Given the description of an element on the screen output the (x, y) to click on. 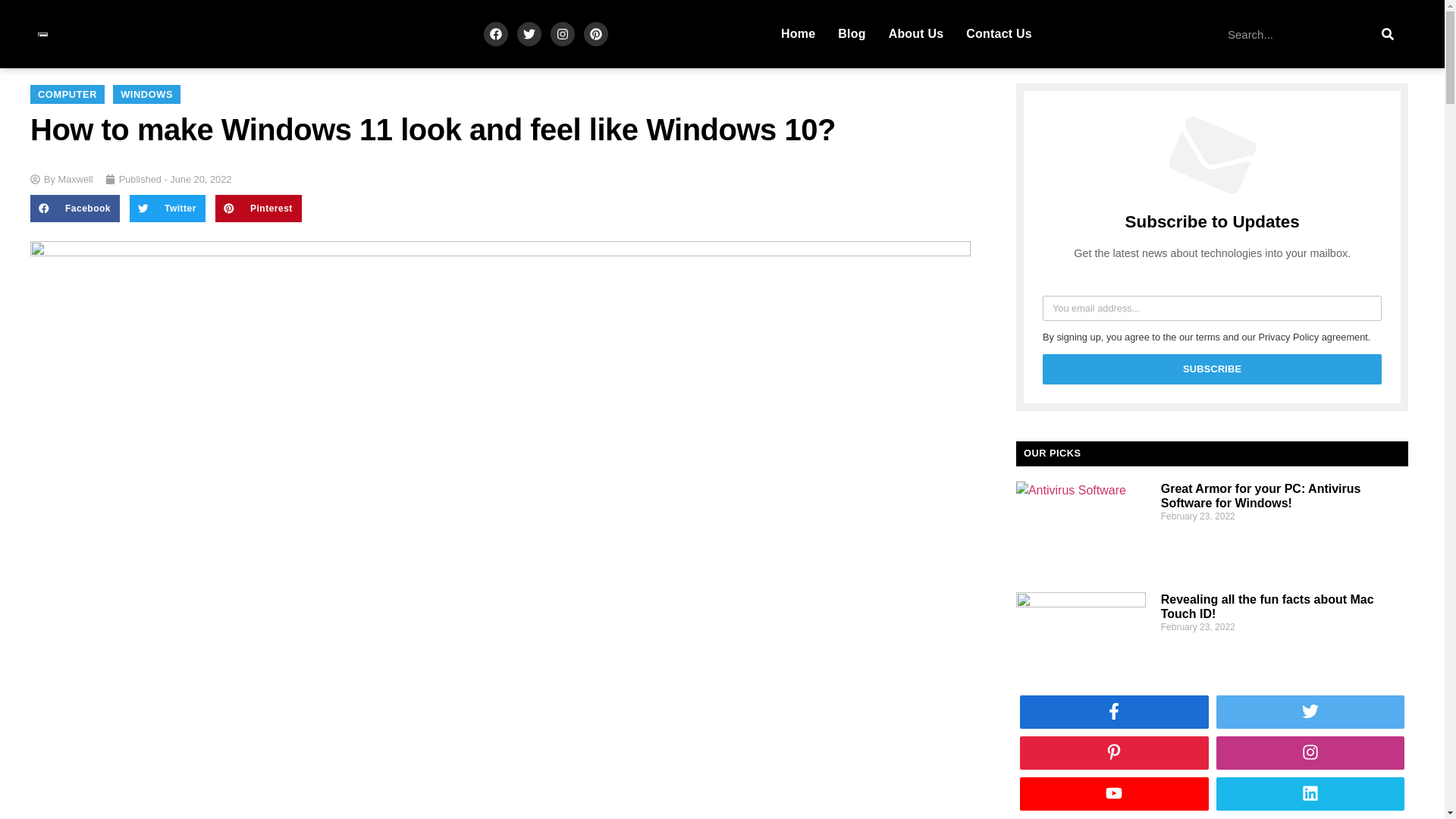
By Maxwell (61, 178)
Contact Us (998, 33)
Home (797, 33)
About Us (915, 33)
COMPUTER (67, 94)
WINDOWS (146, 94)
